Given the description of an element on the screen output the (x, y) to click on. 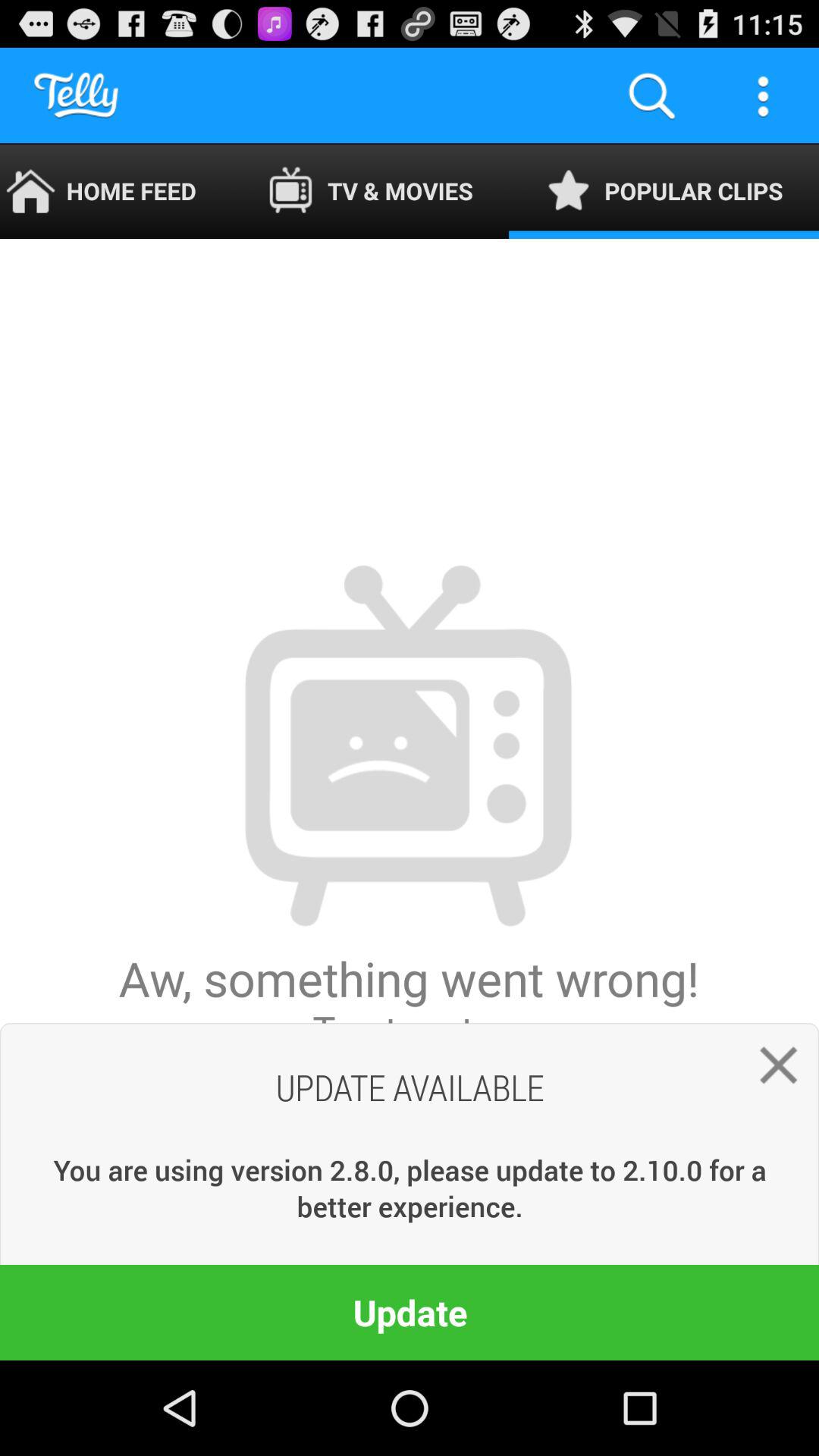
turn on the item to the left of the popular clips (370, 190)
